Given the description of an element on the screen output the (x, y) to click on. 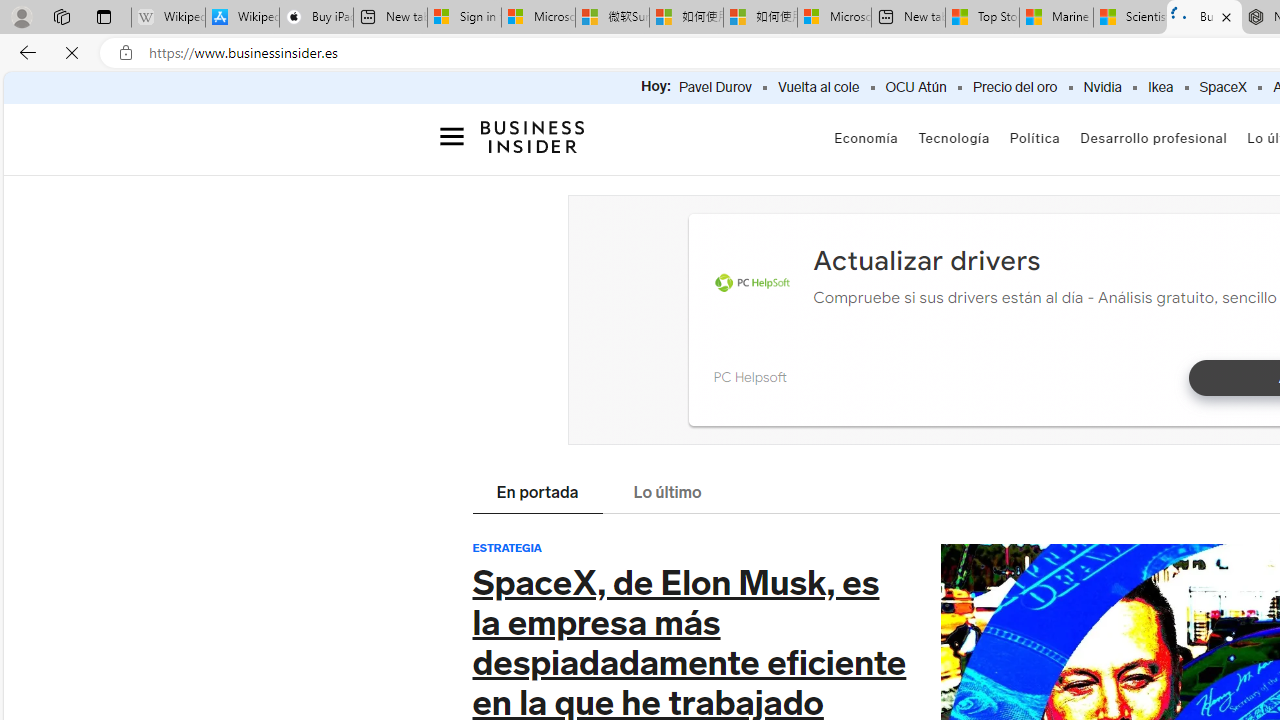
Microsoft account | Account Checkup (834, 17)
Precio del oro (1014, 88)
Logo BusinessInsider.es (532, 136)
Desarrollo profesional (1153, 138)
